Given the description of an element on the screen output the (x, y) to click on. 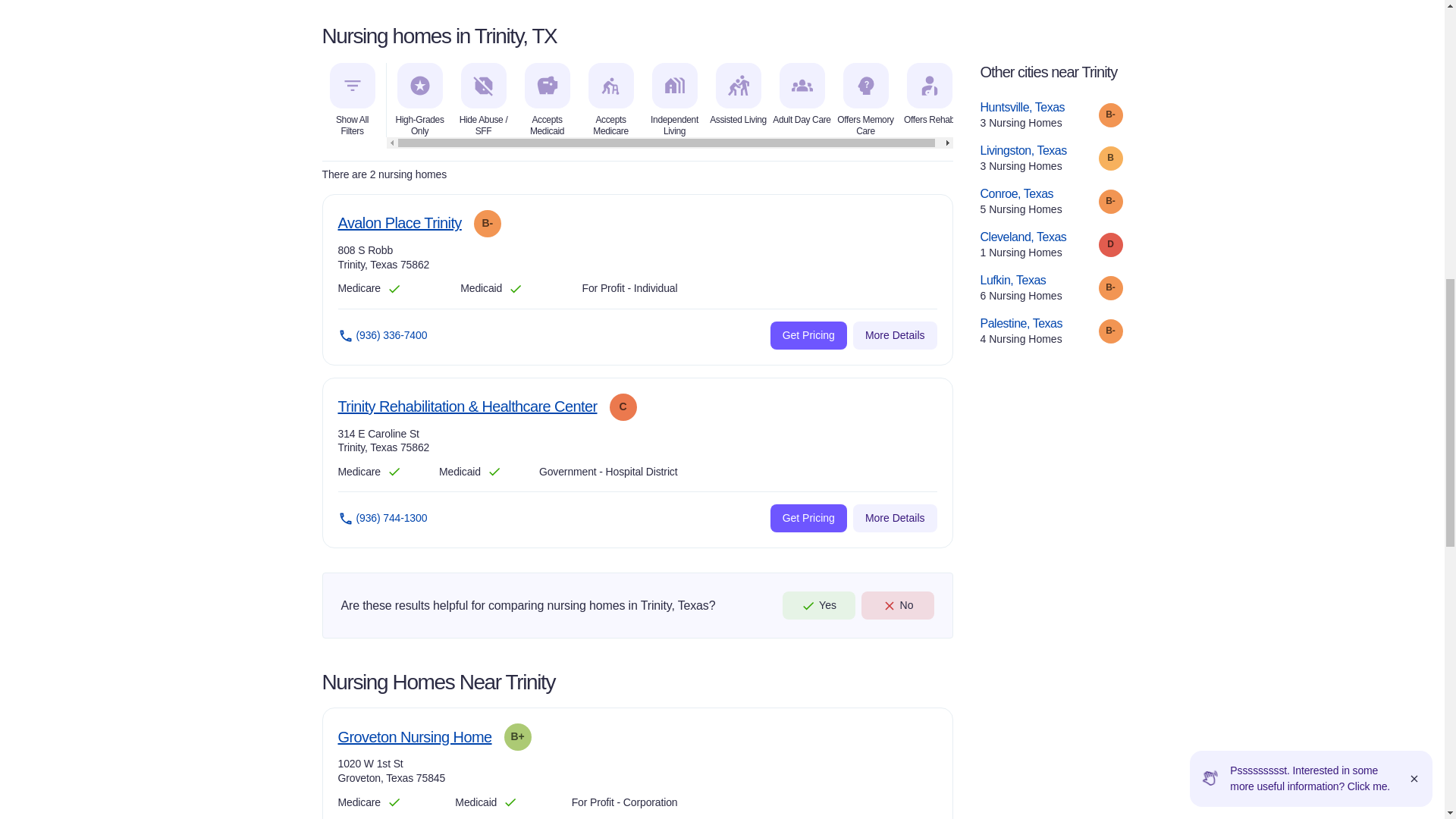
More Details (895, 518)
Get Pricing (1050, 158)
Yes (808, 518)
Get Pricing (414, 737)
No (819, 605)
More Details (399, 222)
